Given the description of an element on the screen output the (x, y) to click on. 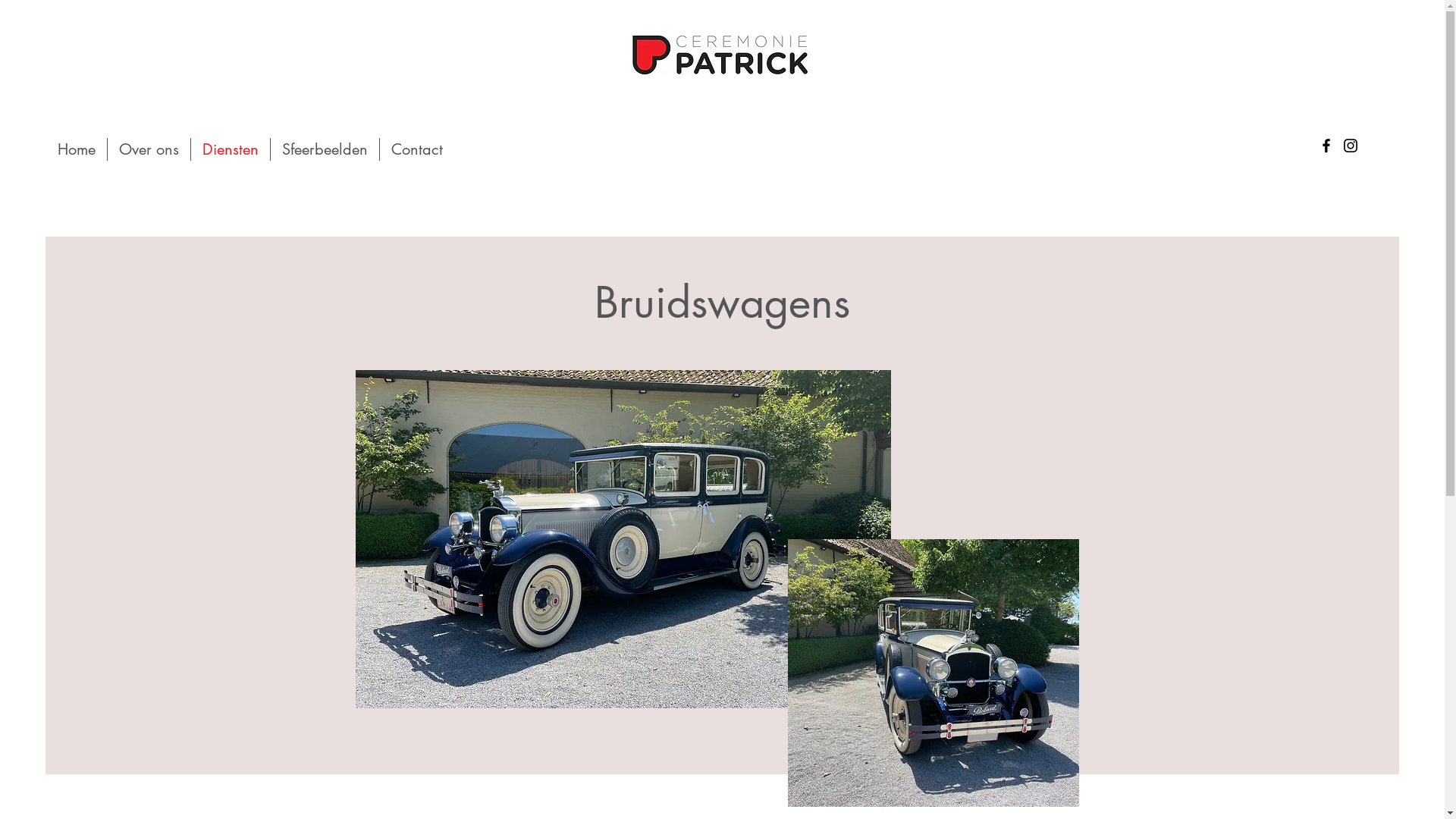
Over ons Element type: text (148, 149)
Contact Element type: text (416, 149)
Home Element type: text (76, 149)
Diensten Element type: text (230, 149)
Sfeerbeelden Element type: text (324, 149)
